Given the description of an element on the screen output the (x, y) to click on. 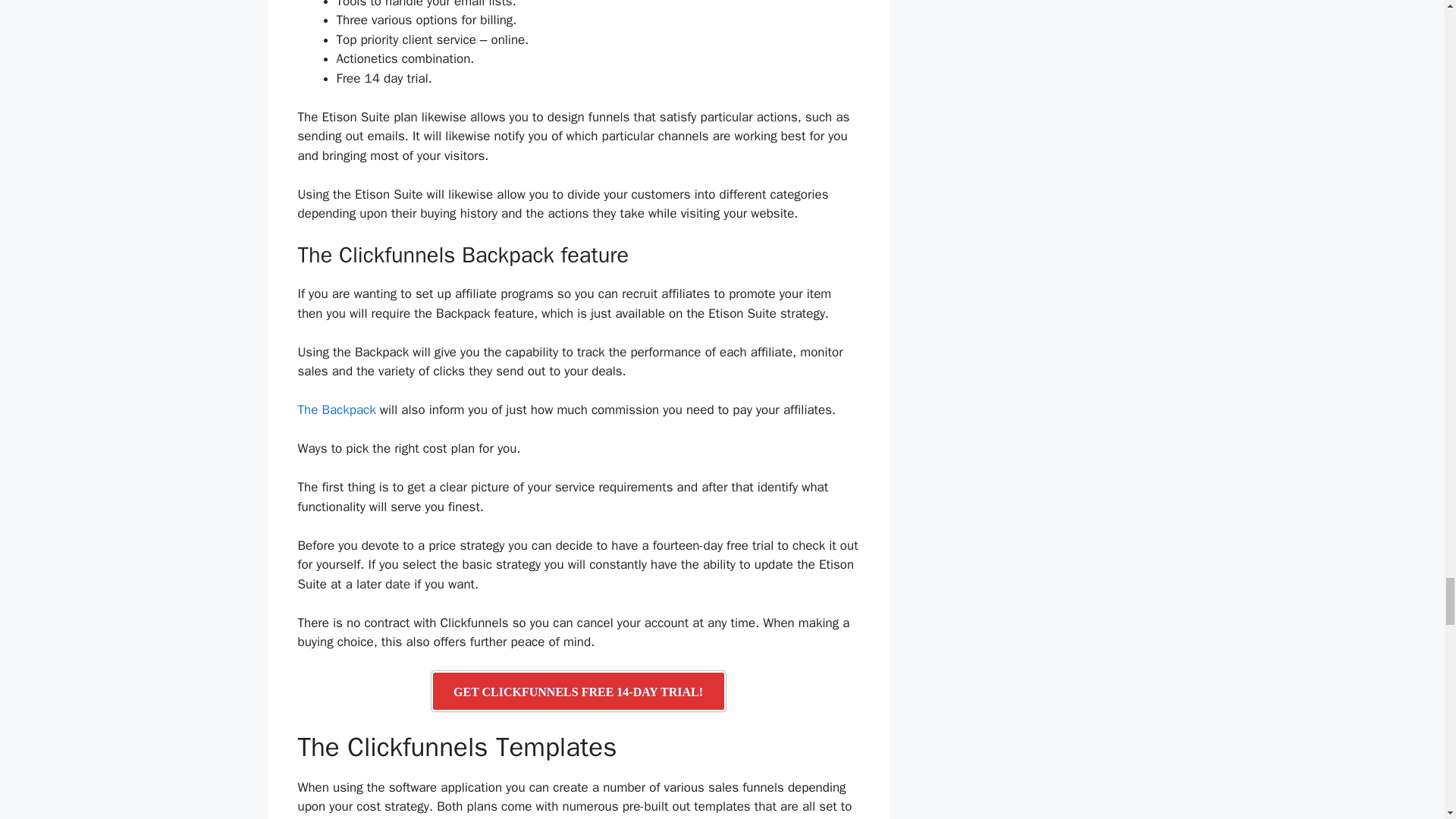
GET CLICKFUNNELS FREE 14-DAY TRIAL! (577, 690)
The Backpack (336, 409)
